Given the description of an element on the screen output the (x, y) to click on. 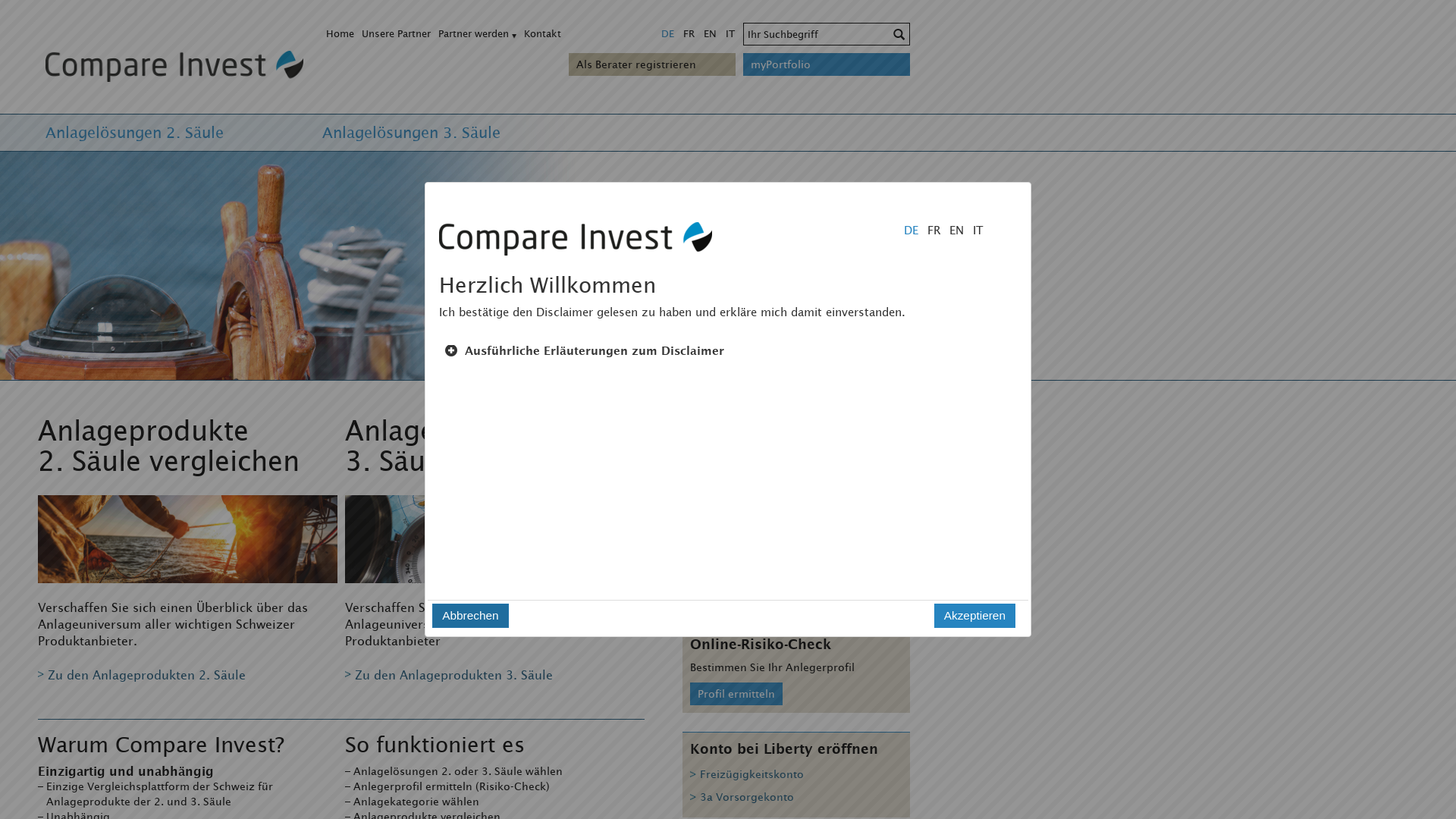
EN Element type: text (710, 33)
EN Element type: text (951, 229)
Home Element type: text (340, 33)
Als Berater registrieren Element type: text (652, 64)
FR Element type: text (688, 33)
IT Element type: text (972, 229)
3a Vorsorgekonto Element type: text (741, 799)
Partner werden Element type: text (473, 33)
Unsere Partner Element type: text (395, 33)
IT Element type: text (730, 33)
myPortfolio Element type: text (826, 64)
Startseite Element type: hover (170, 65)
Abbrechen Element type: text (470, 615)
DE Element type: text (906, 229)
Akzeptieren Element type: text (974, 615)
FR Element type: text (929, 229)
Profil ermitteln Element type: text (736, 693)
Kontakt Element type: text (542, 33)
DE Element type: text (667, 33)
